Given the description of an element on the screen output the (x, y) to click on. 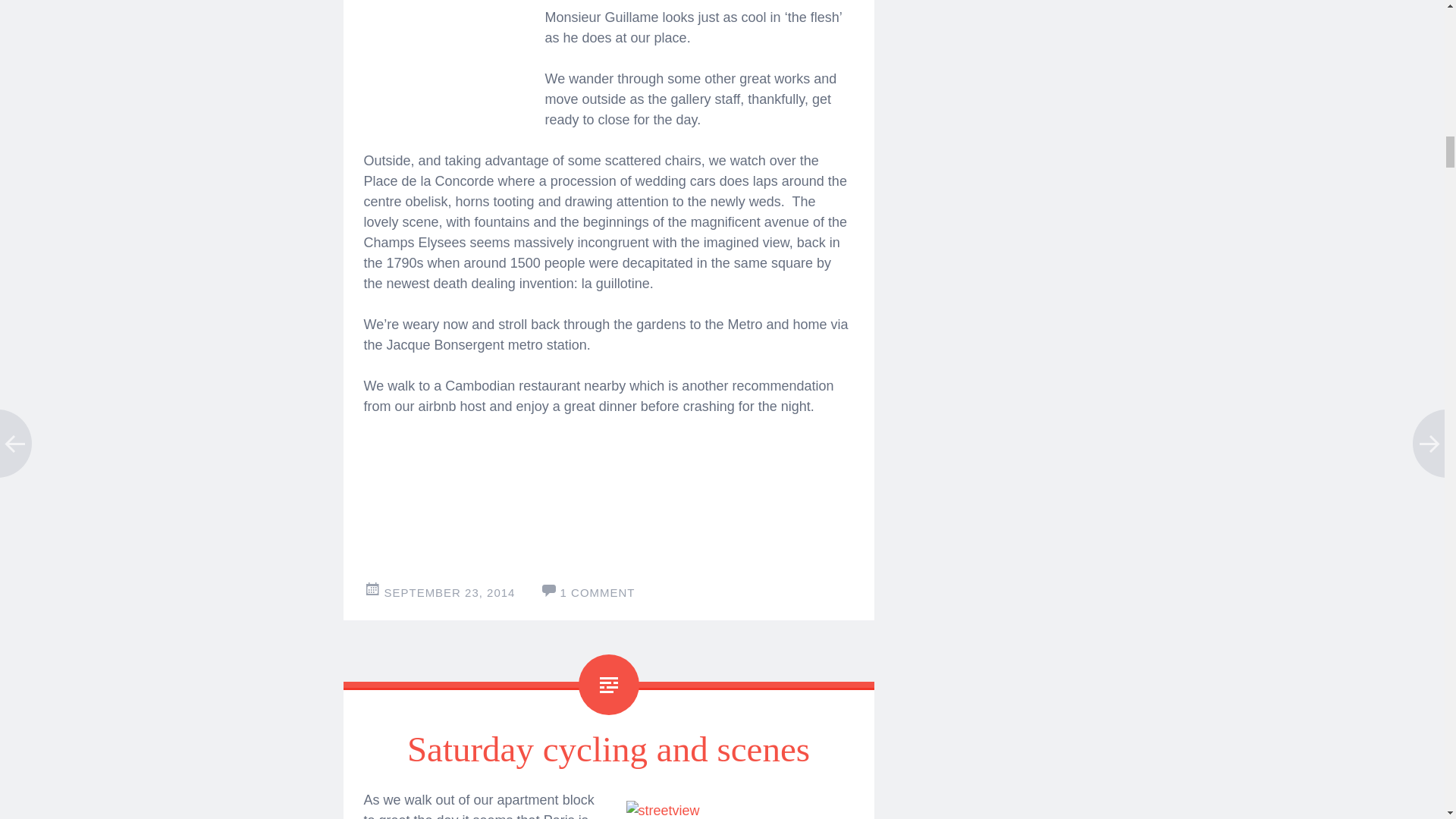
1 COMMENT (597, 592)
7:39 am (449, 592)
Saturday cycling and scenes (608, 749)
SEPTEMBER 23, 2014 (449, 592)
Comment on Sunday in Paris (597, 592)
